Given the description of an element on the screen output the (x, y) to click on. 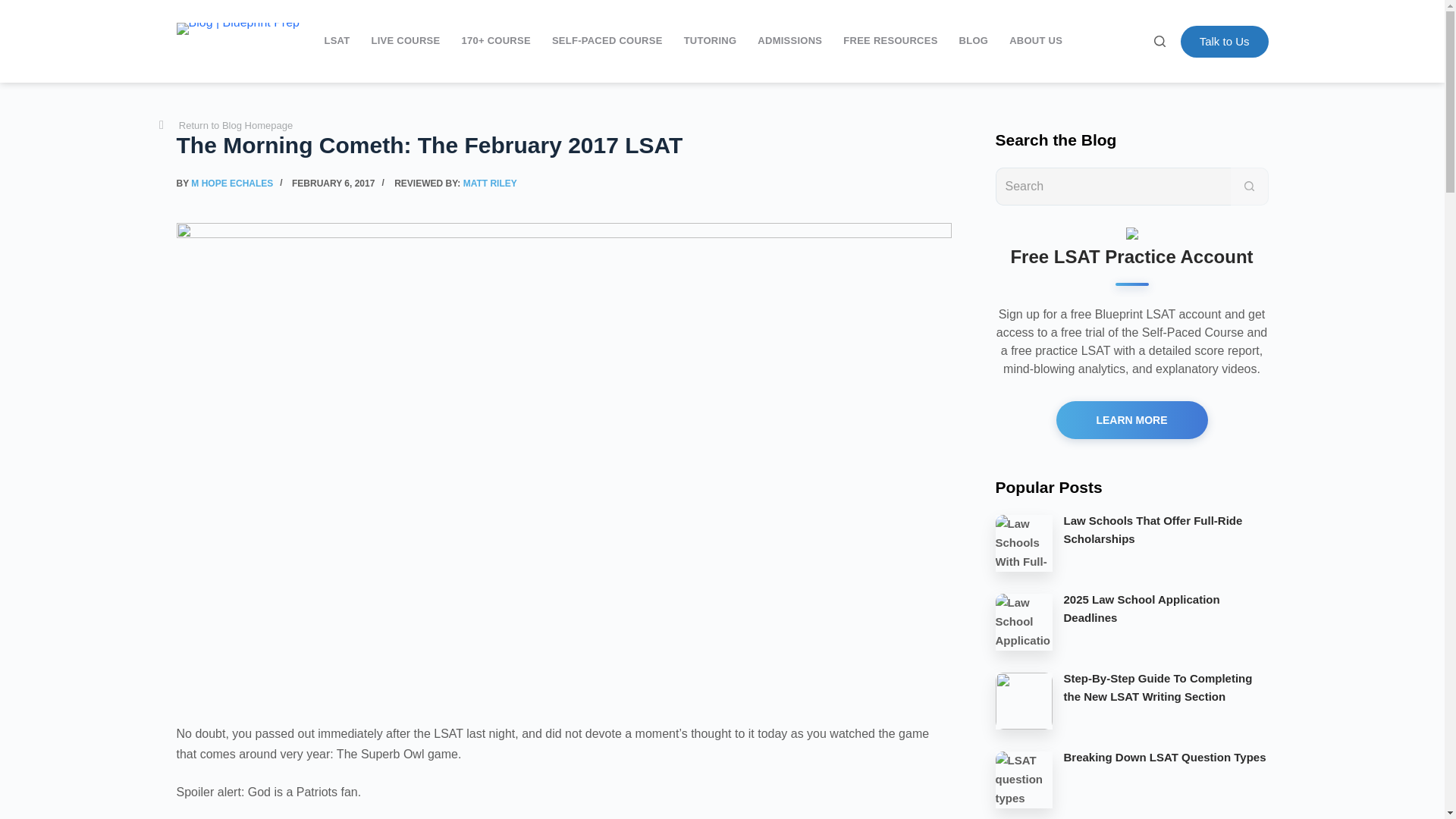
Return to Blog Homepage (225, 125)
Posts by M Hope Echales (231, 183)
LIVE COURSE (405, 41)
M HOPE ECHALES (231, 183)
The Morning Cometh: The February 2017 LSAT (563, 144)
Search for... (1112, 185)
LEARN MORE (1131, 419)
Skip to content (15, 7)
SELF-PACED COURSE (606, 41)
MATT RILEY (489, 183)
